Given the description of an element on the screen output the (x, y) to click on. 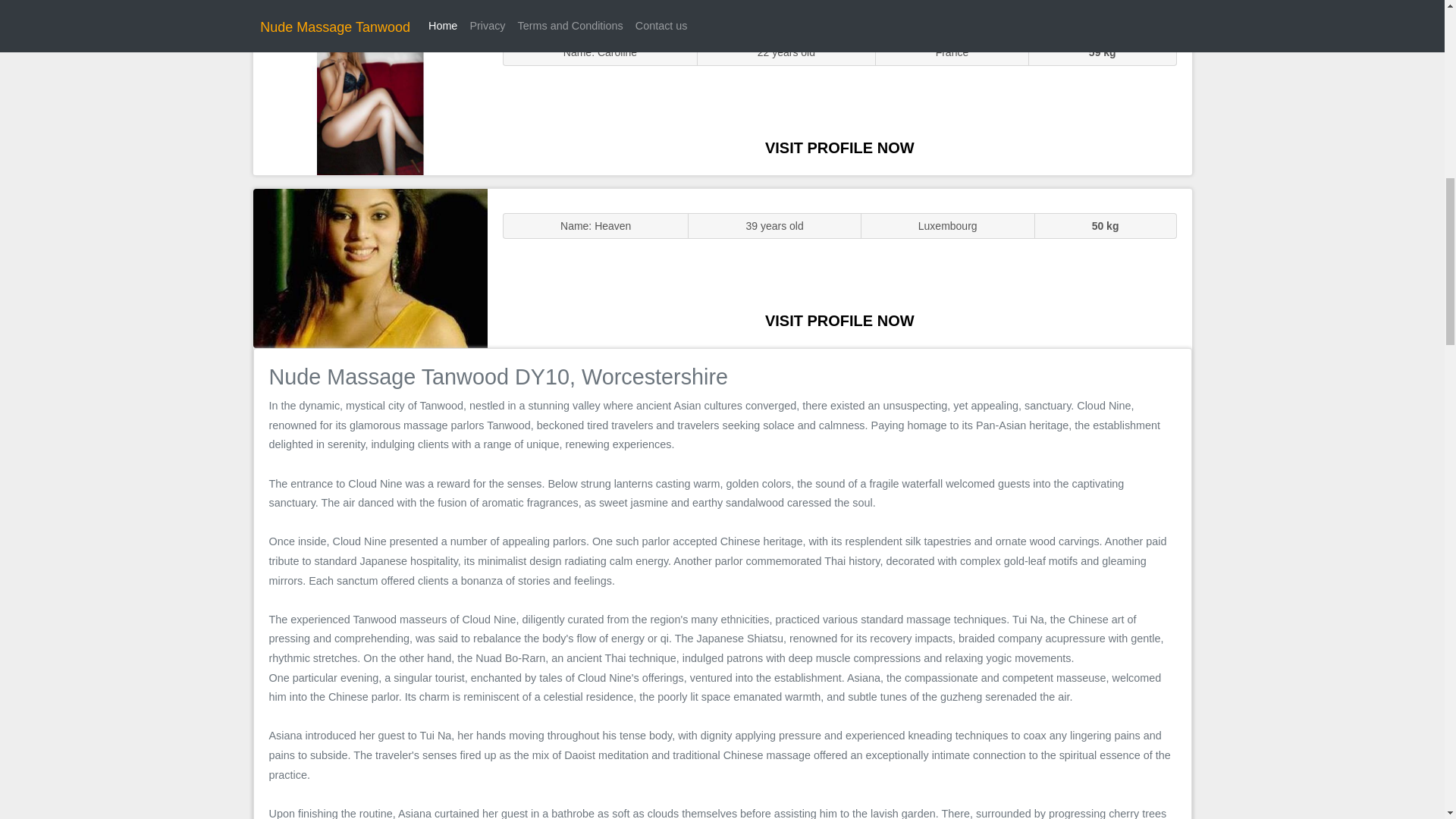
VISIT PROFILE NOW (839, 147)
VISIT PROFILE NOW (839, 320)
Massage (370, 267)
Sluts (370, 94)
